Given the description of an element on the screen output the (x, y) to click on. 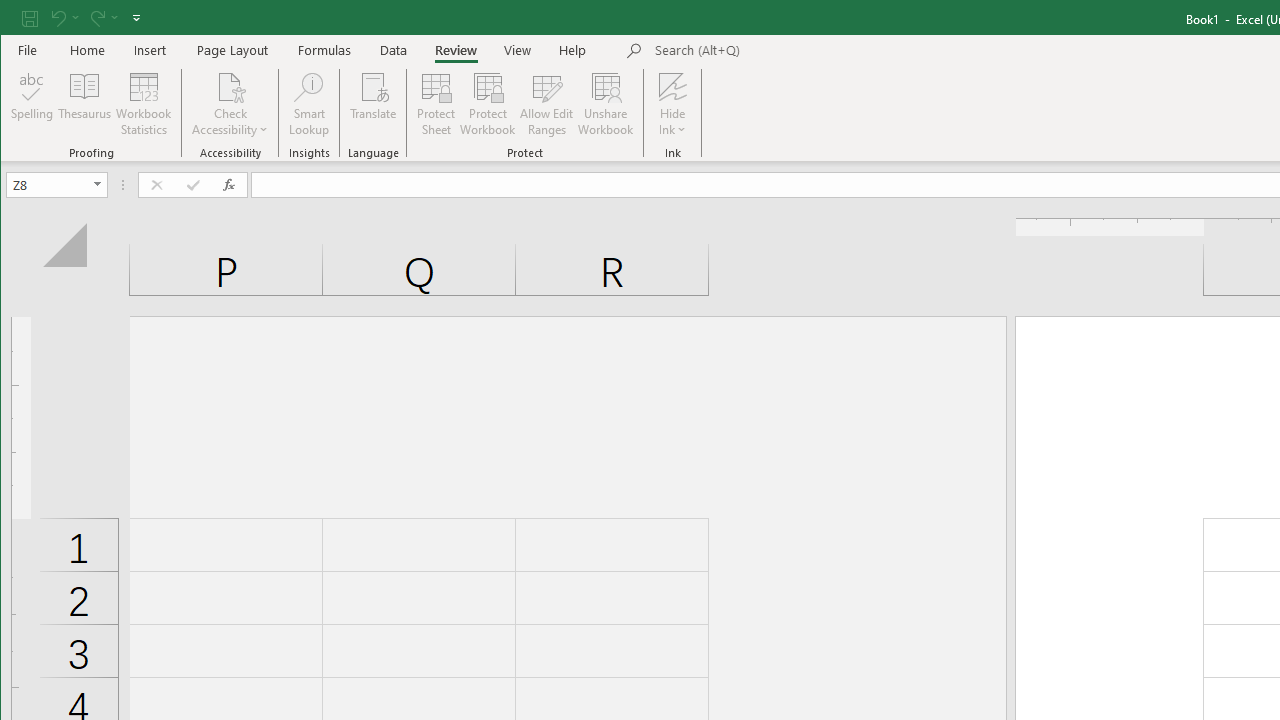
More Options (672, 123)
Formulas (325, 50)
Microsoft search (794, 51)
Smart Lookup (308, 104)
Check Accessibility (230, 104)
Hide Ink (672, 104)
Protect Sheet... (436, 104)
Translate (373, 104)
System (18, 18)
Unshare Workbook (606, 104)
Spelling... (32, 104)
Workbook Statistics (143, 104)
Check Accessibility (230, 86)
Help (573, 50)
